Given the description of an element on the screen output the (x, y) to click on. 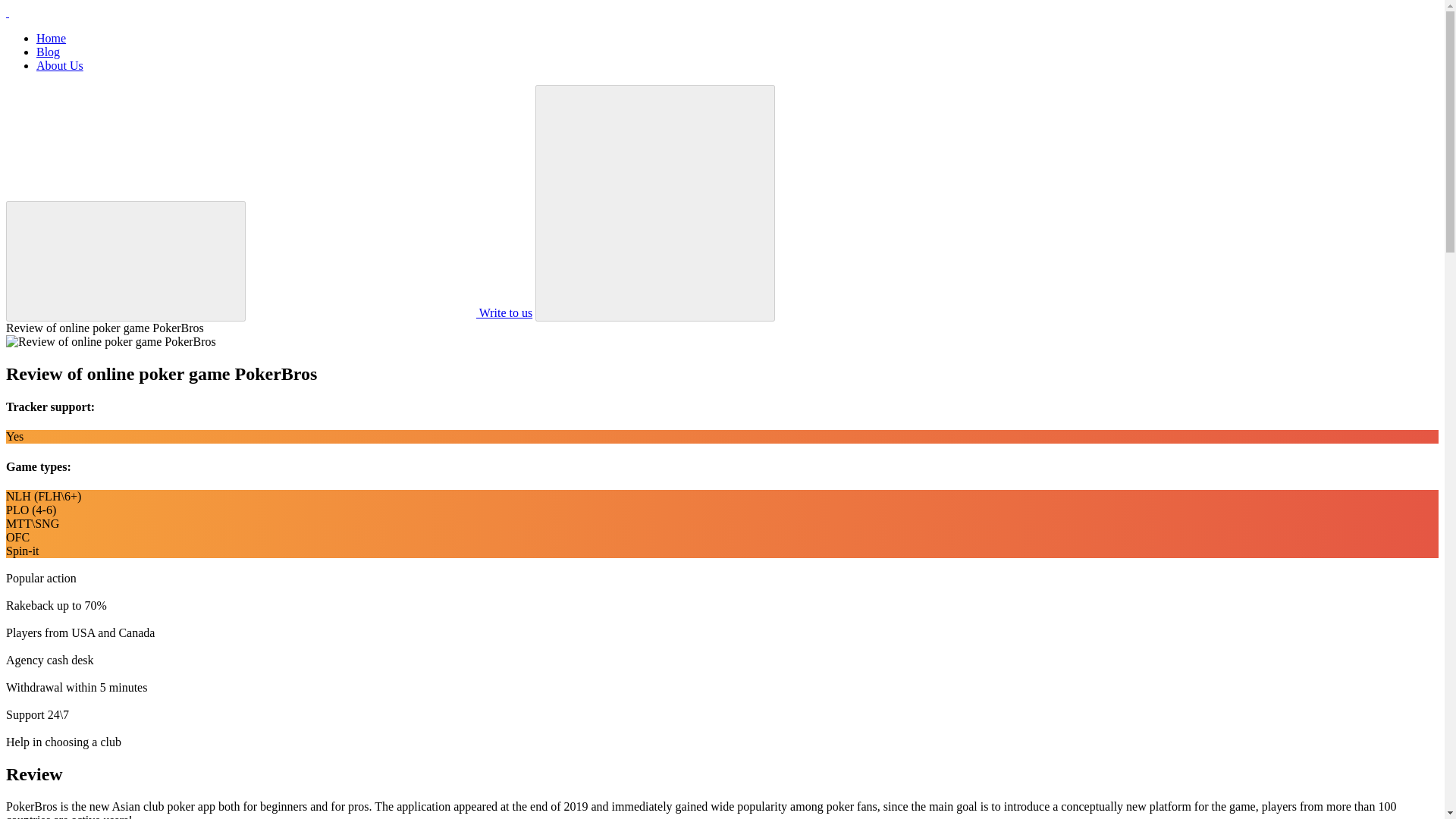
Home (50, 38)
Blog (47, 51)
About Us (59, 65)
Write to us (390, 312)
Review of online poker game PokerBros (110, 341)
